Given the description of an element on the screen output the (x, y) to click on. 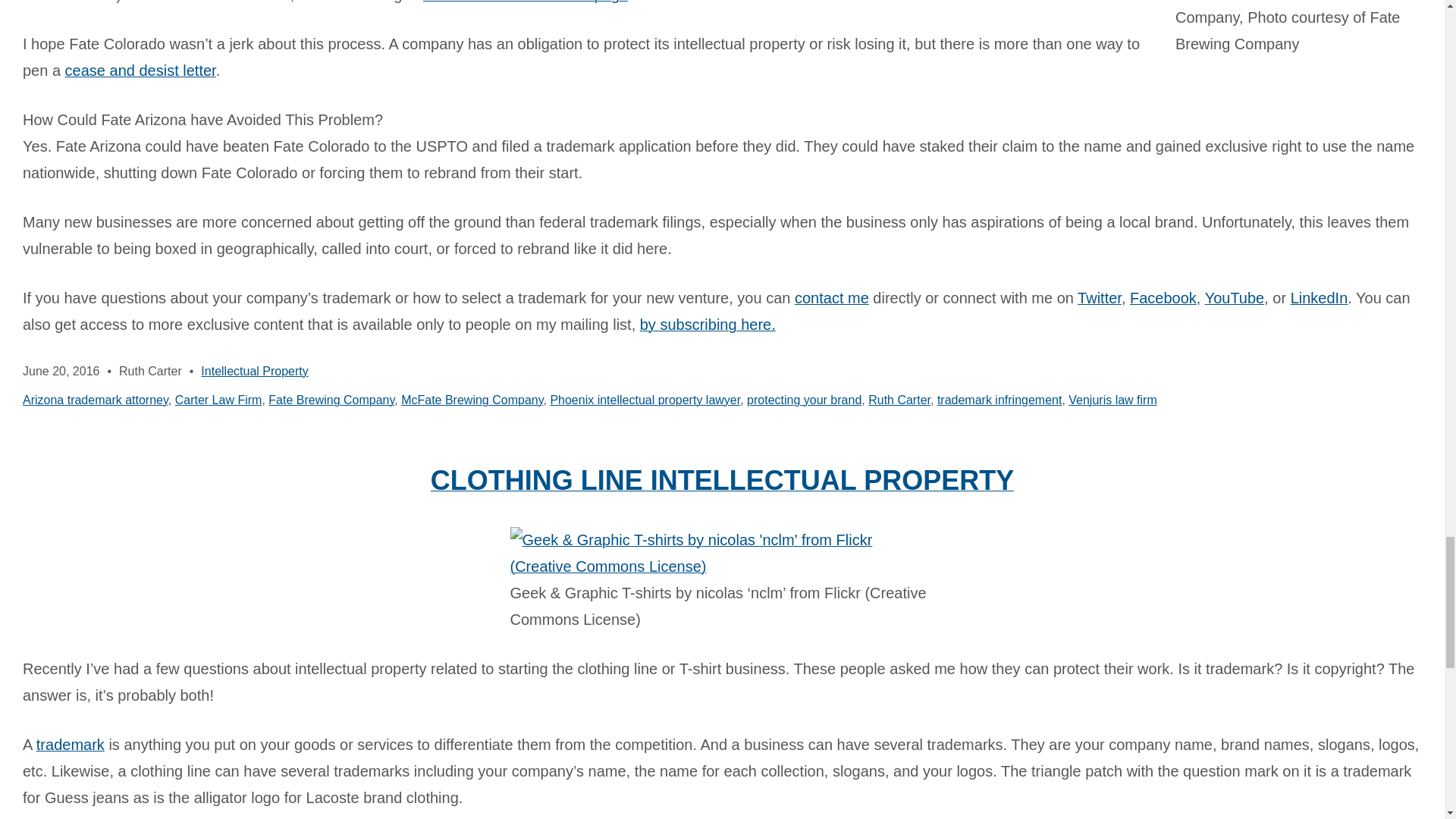
Twitter (1099, 297)
LinkedIn (1319, 297)
YouTube (1235, 297)
by subscribing here. (708, 324)
contact me (831, 297)
Facebook (1162, 297)
cease and desist letter (140, 70)
